Given the description of an element on the screen output the (x, y) to click on. 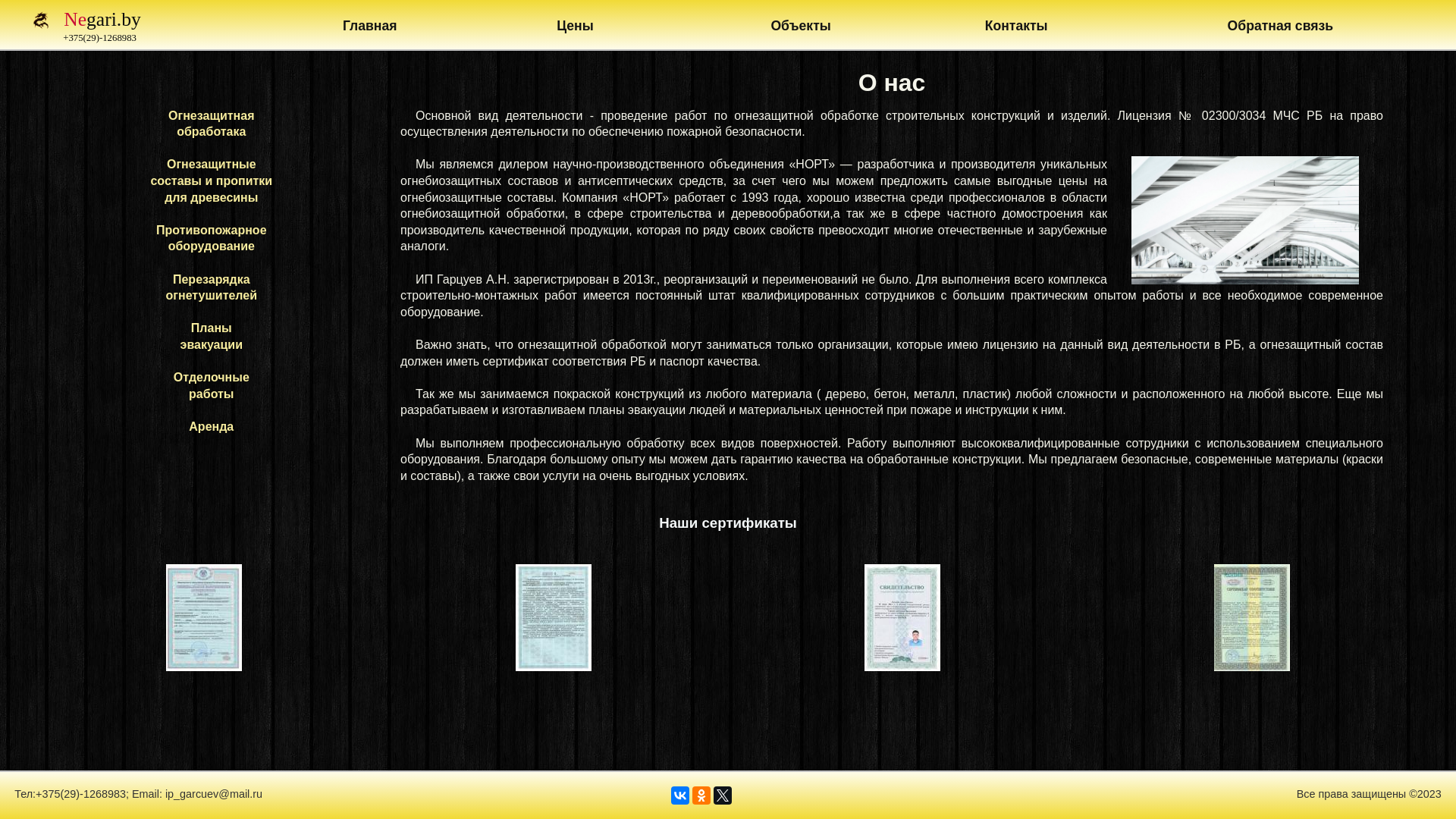
Twitter Element type: hover (722, 795)
